Given the description of an element on the screen output the (x, y) to click on. 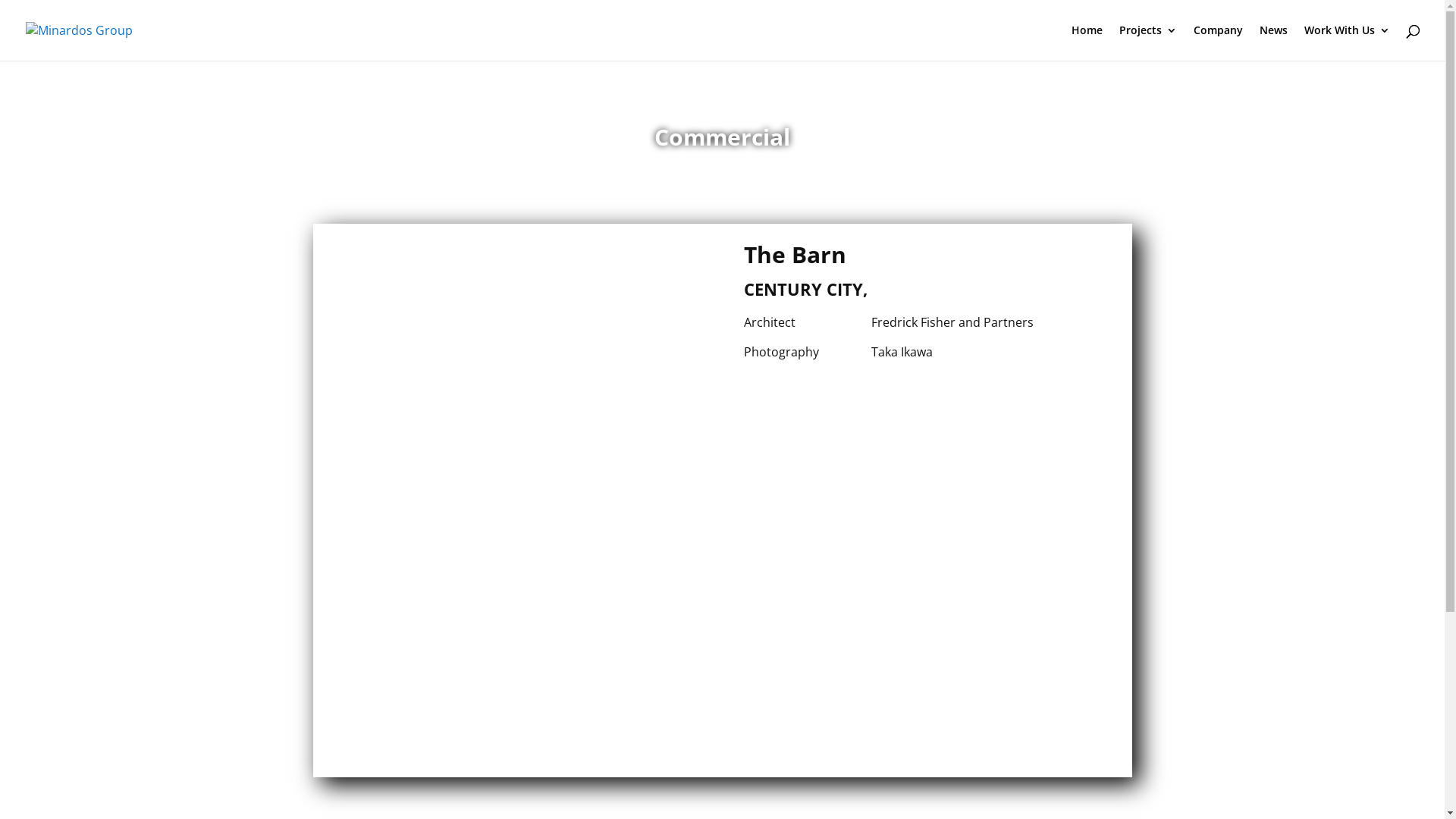
Company Element type: text (1217, 42)
Home Element type: text (1086, 42)
Skip to content Element type: text (0, 0)
News Element type: text (1273, 42)
Projects Element type: text (1147, 42)
Work With Us Element type: text (1347, 42)
